Given the description of an element on the screen output the (x, y) to click on. 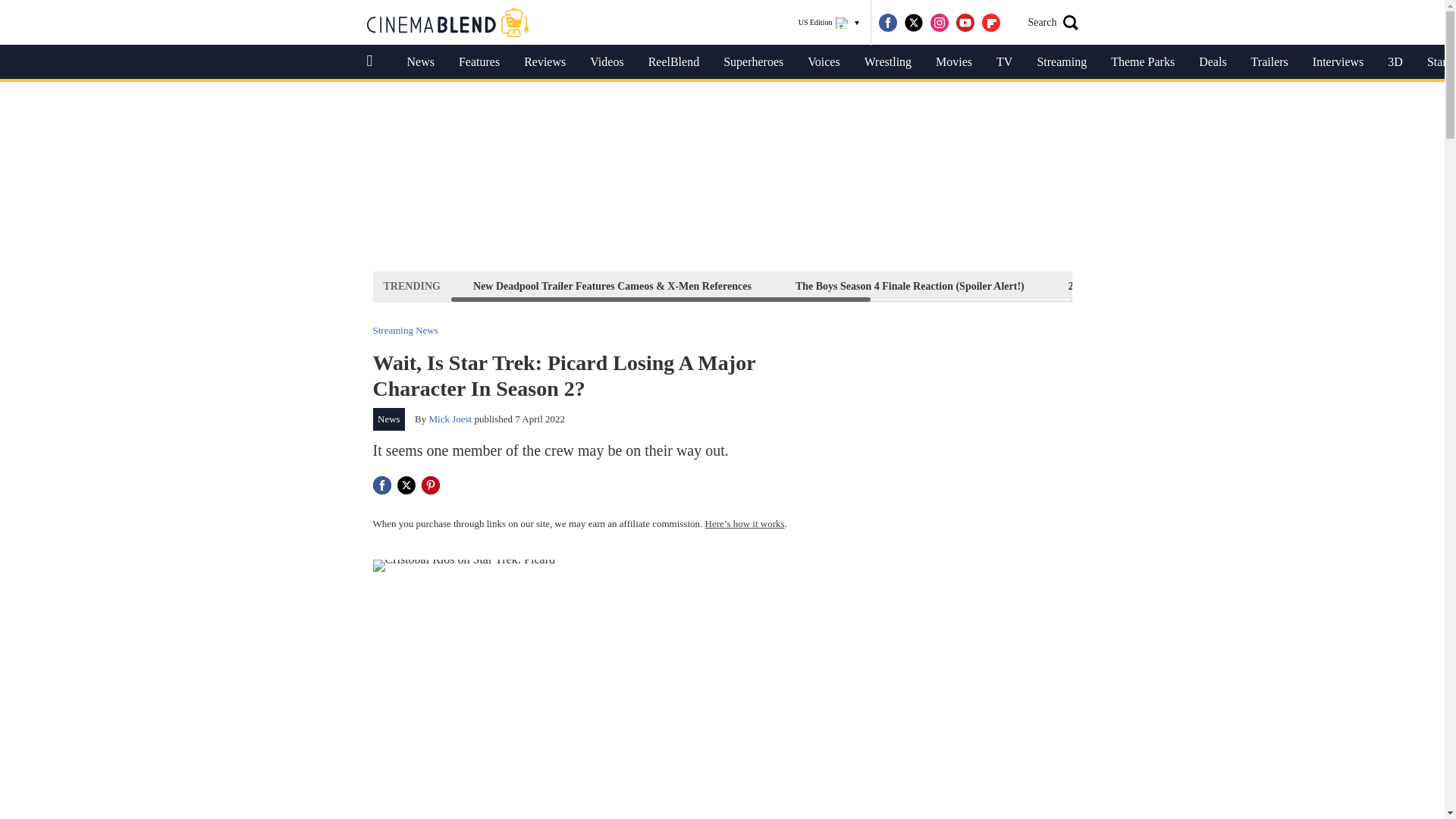
100 Best Sitcoms Of All Time (1283, 286)
TV (1004, 61)
2024 Upcoming Movies (1120, 286)
Theme Parks (1142, 61)
News (389, 418)
Superheroes (752, 61)
Streaming News (405, 329)
Movies (953, 61)
Streaming (1062, 61)
US Edition (828, 22)
Voices (822, 61)
Wrestling (887, 61)
Reviews (545, 61)
News (419, 61)
3D (1395, 61)
